Given the description of an element on the screen output the (x, y) to click on. 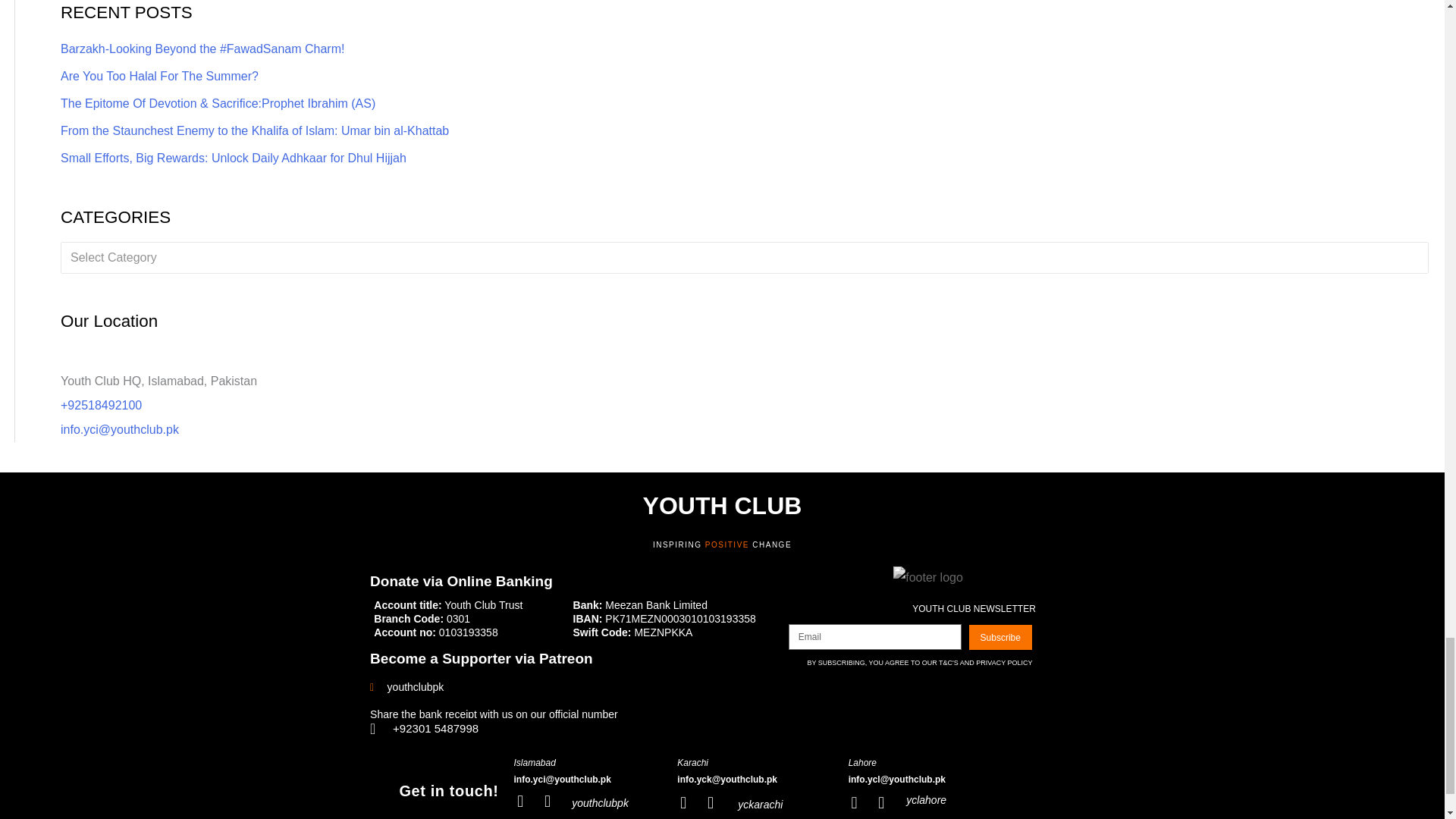
footer logo (927, 577)
